Given the description of an element on the screen output the (x, y) to click on. 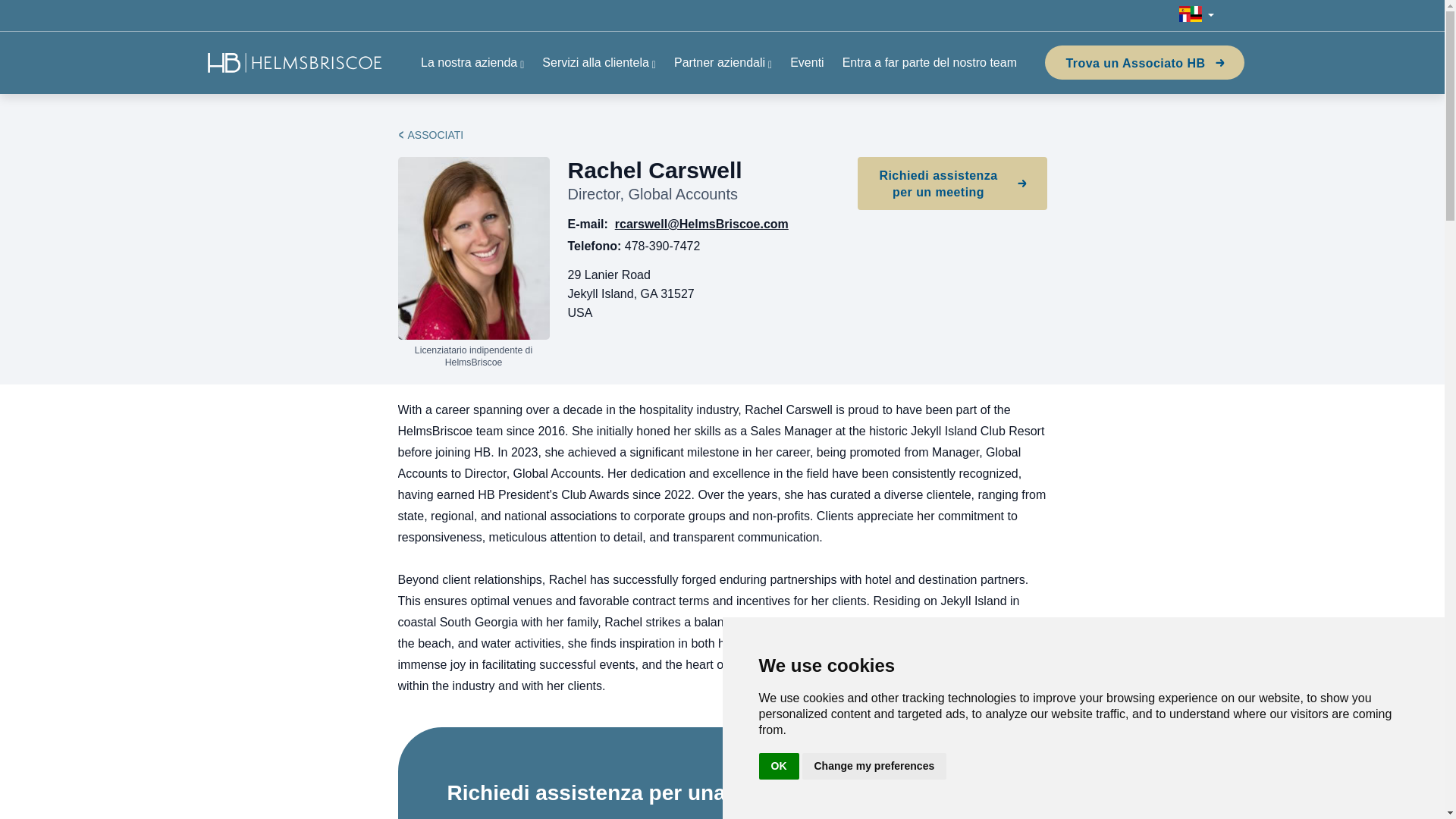
OK (777, 765)
Richiedi assistenza per un meeting (951, 183)
ASSOCIATI (435, 134)
Change my preferences (874, 765)
Richiedi assistenza per un meeting (951, 183)
Eventi (806, 62)
Entra a far parte del nostro team (929, 62)
Trova un Associato HB (1144, 62)
Internazionale (1195, 15)
